Given the description of an element on the screen output the (x, y) to click on. 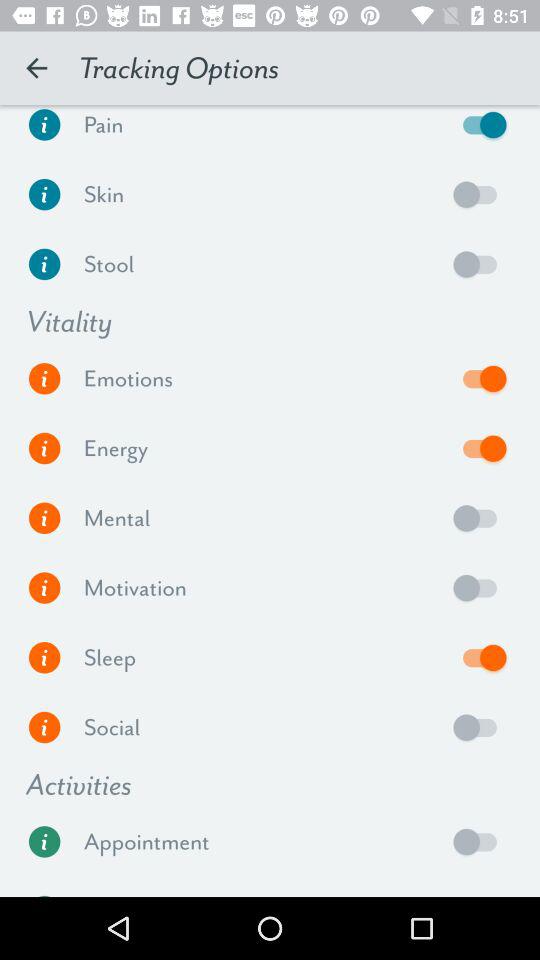
view pain information (44, 130)
